Given the description of an element on the screen output the (x, y) to click on. 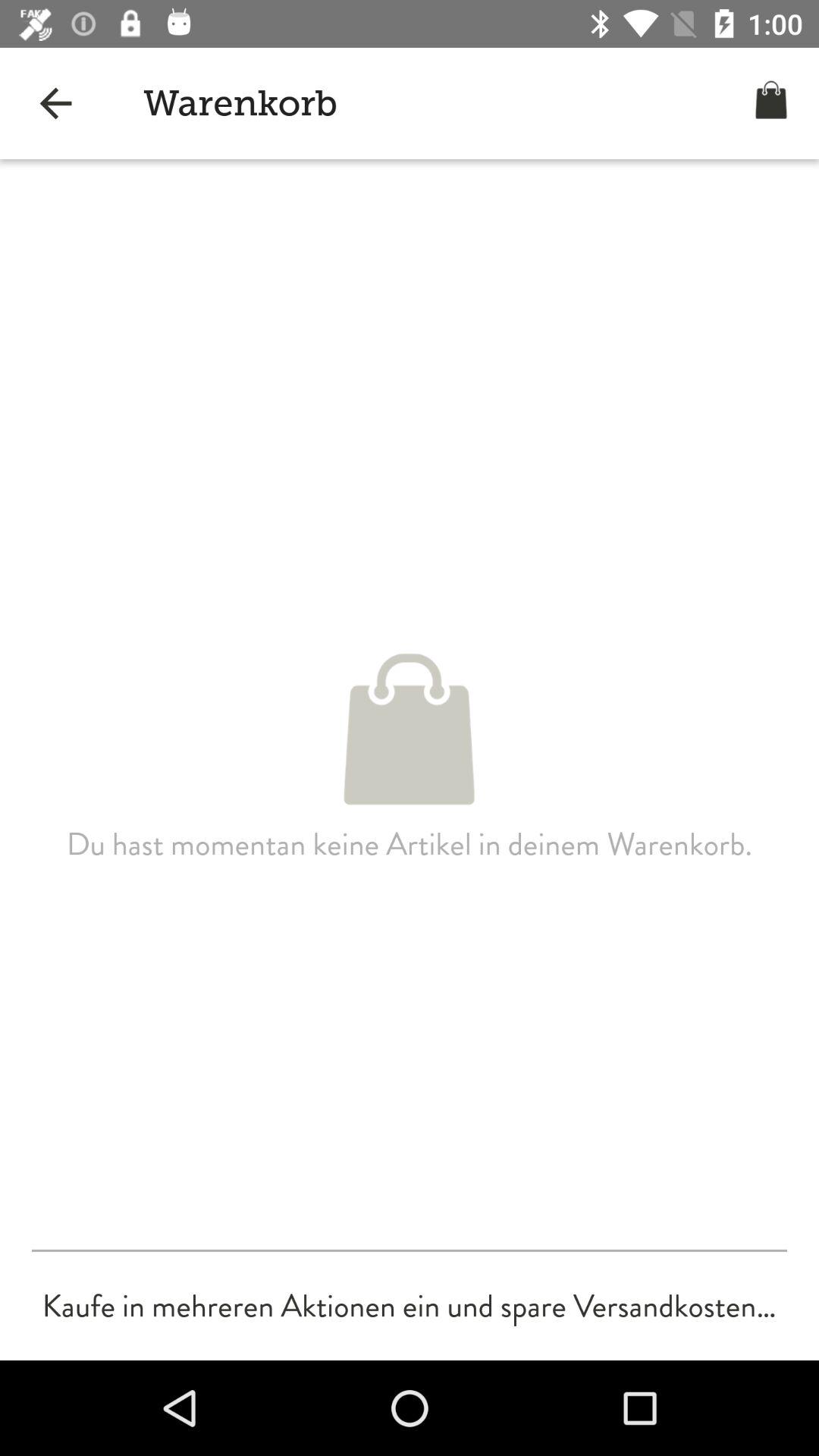
turn off icon to the left of warenkorb item (55, 103)
